Given the description of an element on the screen output the (x, y) to click on. 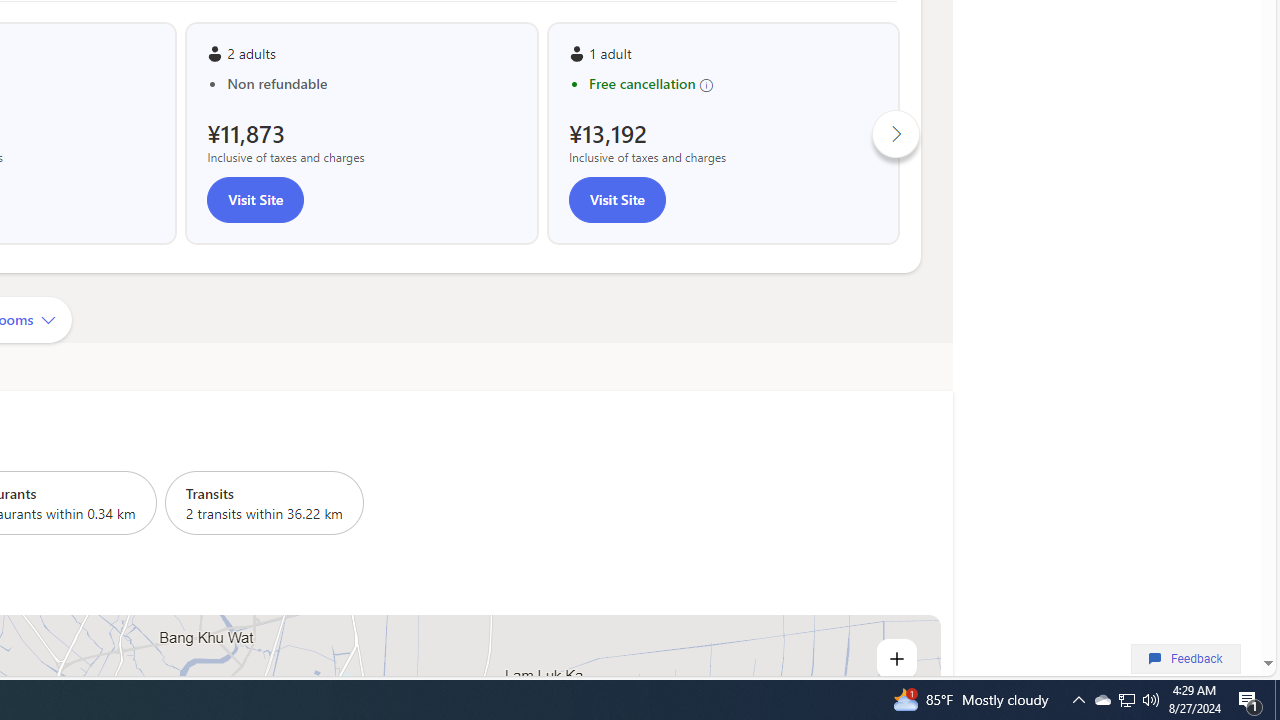
Transits 2 transits within 36.22 km (263, 502)
Zoom in (895, 658)
Visit Site (616, 200)
Non refundable (371, 83)
Free cancellation (733, 83)
Click to scroll right (896, 132)
